Given the description of an element on the screen output the (x, y) to click on. 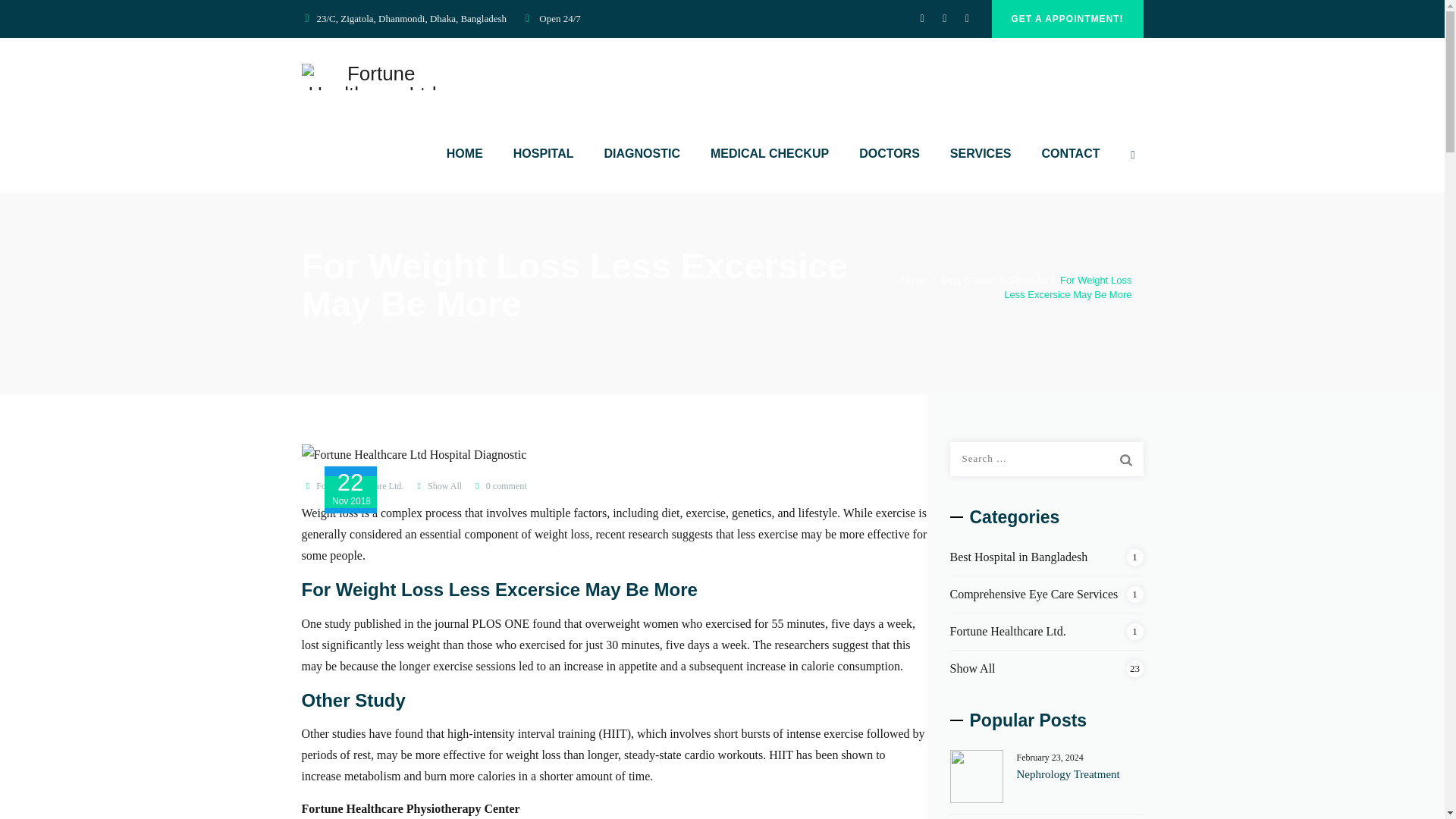
Fortune Healthcare Ltd. (374, 76)
Go to Fortune Healthcare Ltd.. (910, 279)
DIAGNOSTIC (642, 153)
Search (1125, 459)
Search (1125, 459)
HOSPITAL (543, 153)
Go to the Show All Category archives. (1027, 279)
GET A APPOINTMENT! (1066, 18)
Go to Blog Classic. (967, 279)
